Given the description of an element on the screen output the (x, y) to click on. 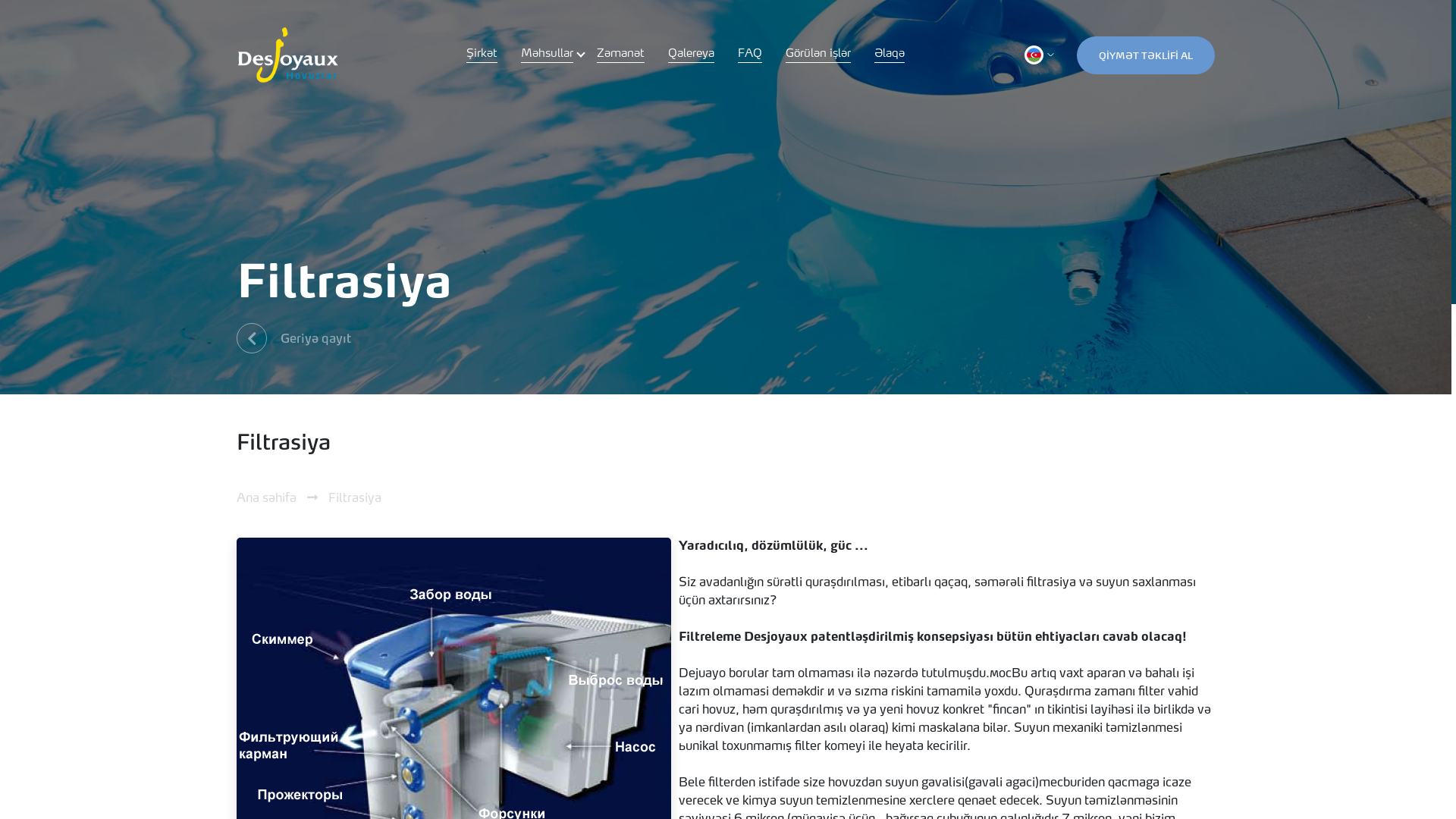
Qalereya Element type: text (691, 54)
Filtrasiya Element type: text (562, 90)
Filtrasiya Element type: text (354, 498)
FAQ Element type: text (749, 54)
Hovuzlar Element type: text (287, 54)
